Given the description of an element on the screen output the (x, y) to click on. 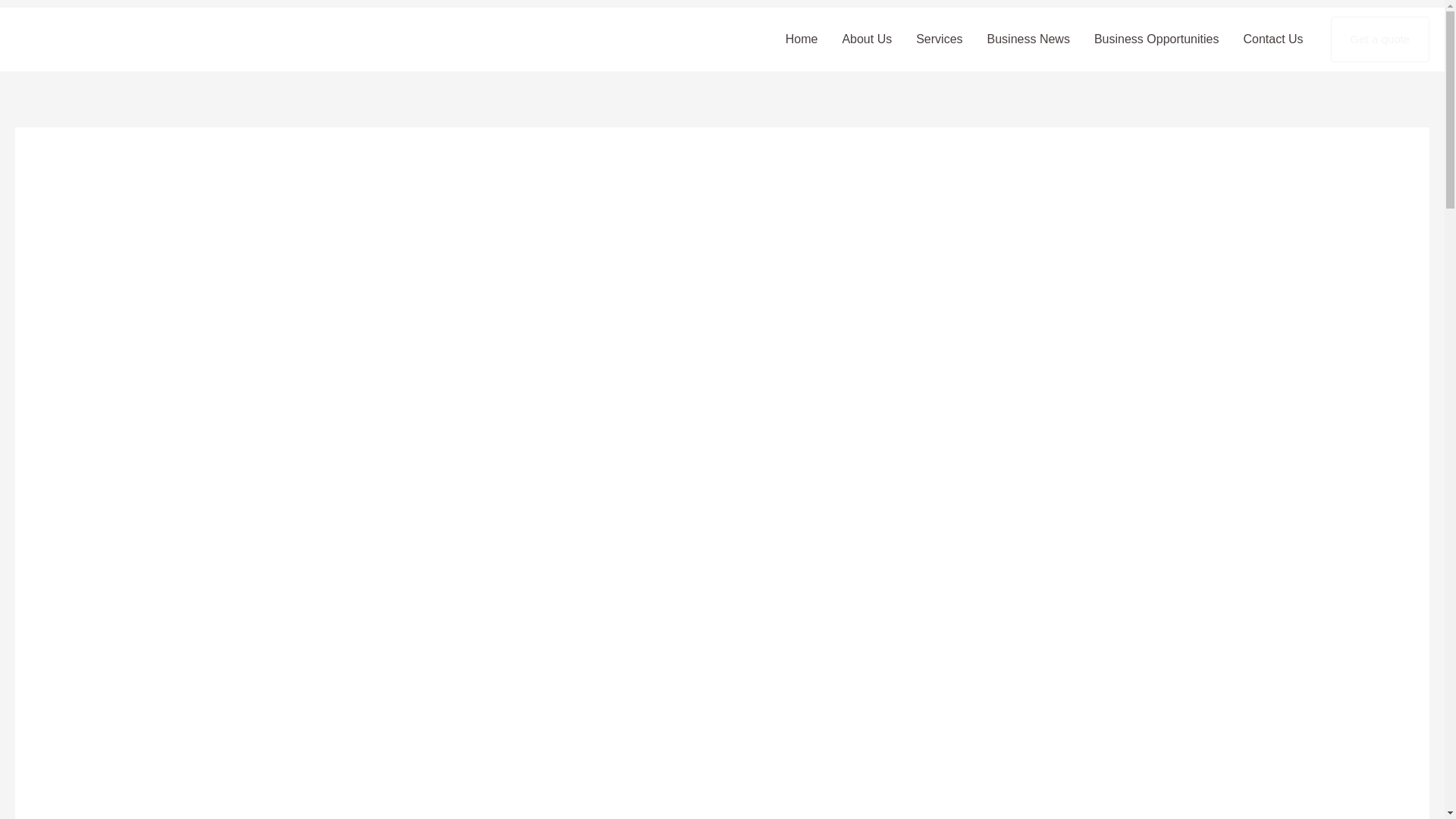
Home (801, 39)
About Us (866, 39)
Business News (1028, 39)
Contact Us (1272, 39)
Business Opportunities (1156, 39)
Get a quote (1379, 39)
Services (939, 39)
